Given the description of an element on the screen output the (x, y) to click on. 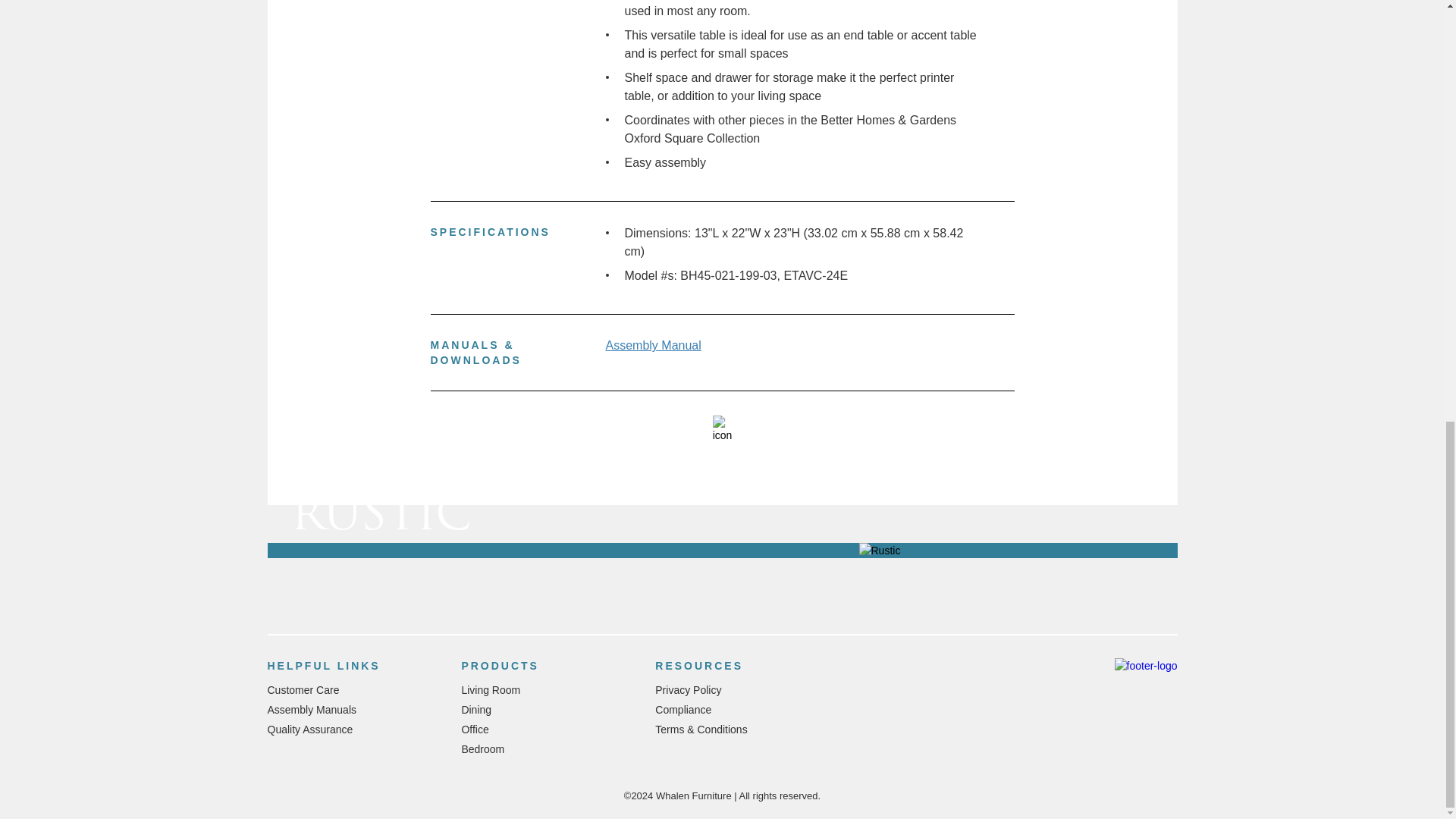
Assembly Manual (652, 344)
Bedroom (482, 748)
Quality Assurance (309, 729)
Office (474, 729)
Privacy Policy (687, 689)
Customer Care (302, 689)
Assembly Manuals (311, 709)
Living Room (490, 689)
EXPLORE MORE (367, 478)
Compliance (683, 709)
